Given the description of an element on the screen output the (x, y) to click on. 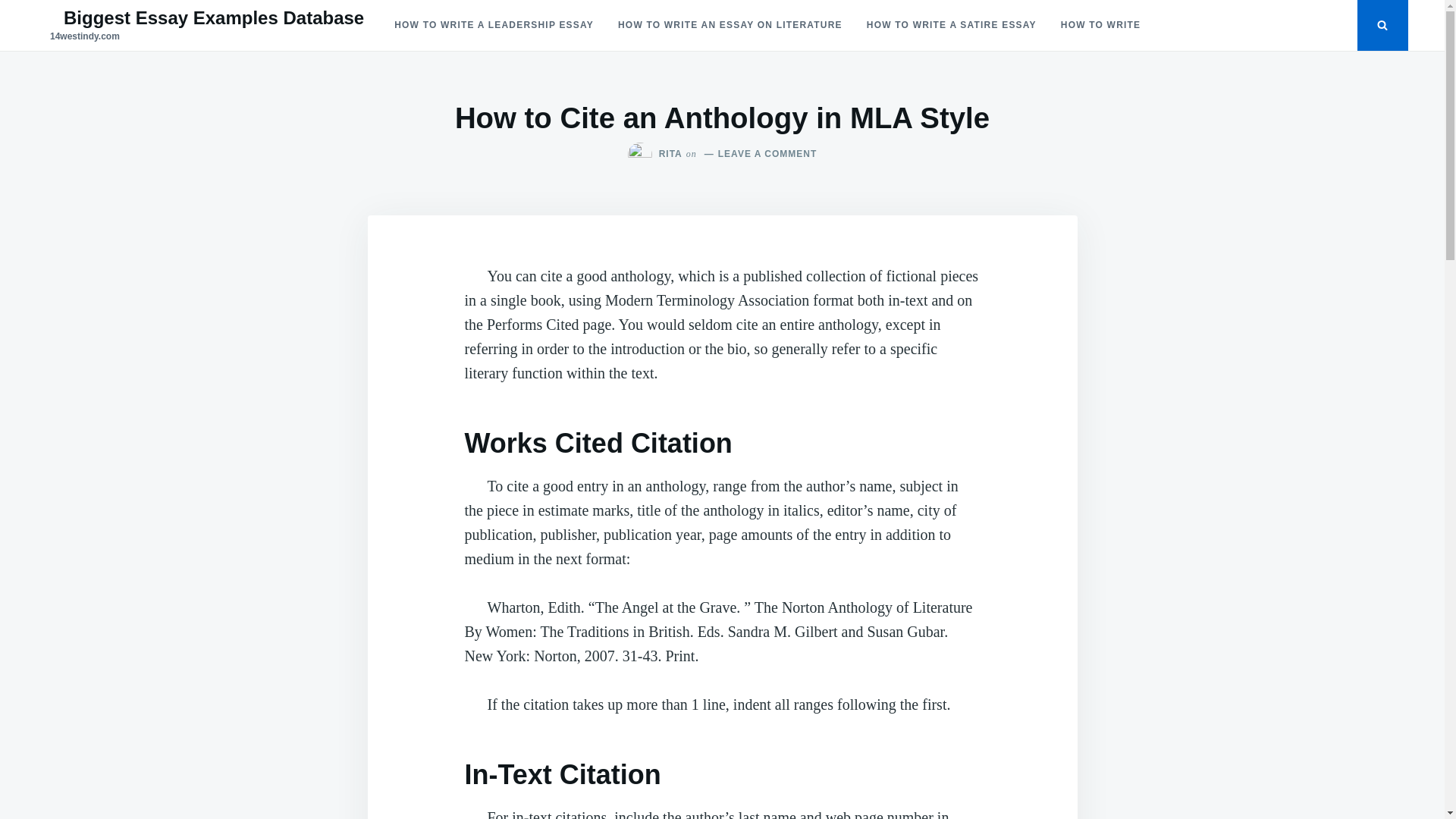
HOW TO WRITE A SATIRE ESSAY Element type: text (951, 25)
HOW TO WRITE AN ESSAY ON LITERATURE Element type: text (729, 25)
HOW TO WRITE A LEADERSHIP ESSAY Element type: text (493, 25)
LEAVE A COMMENT
ON HOW TO CITE AN ANTHOLOGY IN MLA STYLE Element type: text (758, 153)
Biggest Essay Examples Database Element type: text (213, 17)
RITA Element type: text (670, 153)
Skip to content Element type: text (0, 0)
HOW TO WRITE Element type: text (1100, 25)
